Given the description of an element on the screen output the (x, y) to click on. 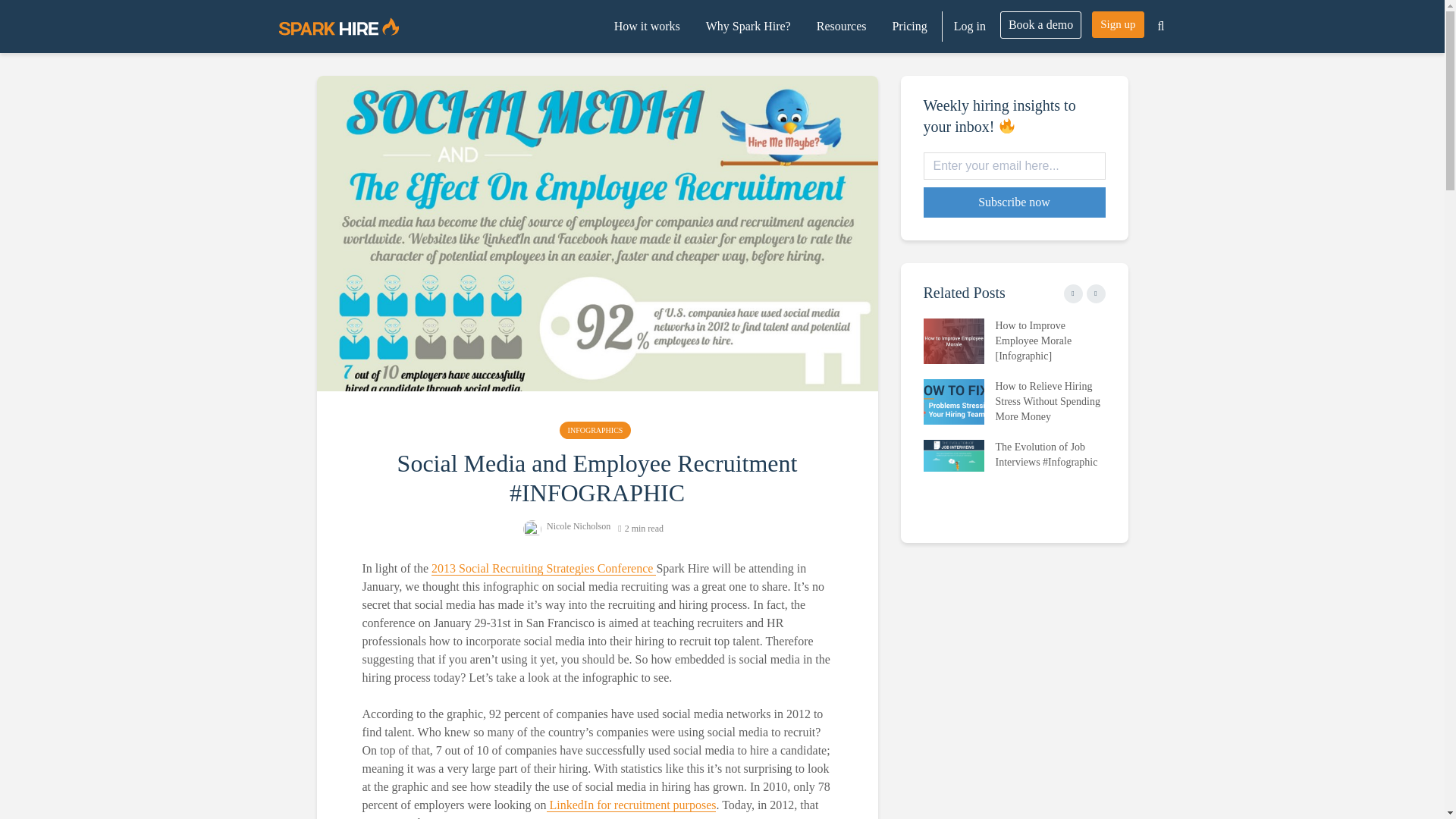
Sign up (1117, 24)
Why Spark Hire? (748, 26)
How it works (646, 26)
Nicole Nicholson (566, 525)
How to Relieve Hiring Stress Without Spending More Money (953, 400)
Link In to Great Candidates Like LinkedIn (631, 805)
Subscribe now (1014, 202)
Log in (969, 26)
Pricing (908, 26)
INFOGRAPHICS (595, 429)
Book a demo (1041, 24)
Resources (841, 26)
